Given the description of an element on the screen output the (x, y) to click on. 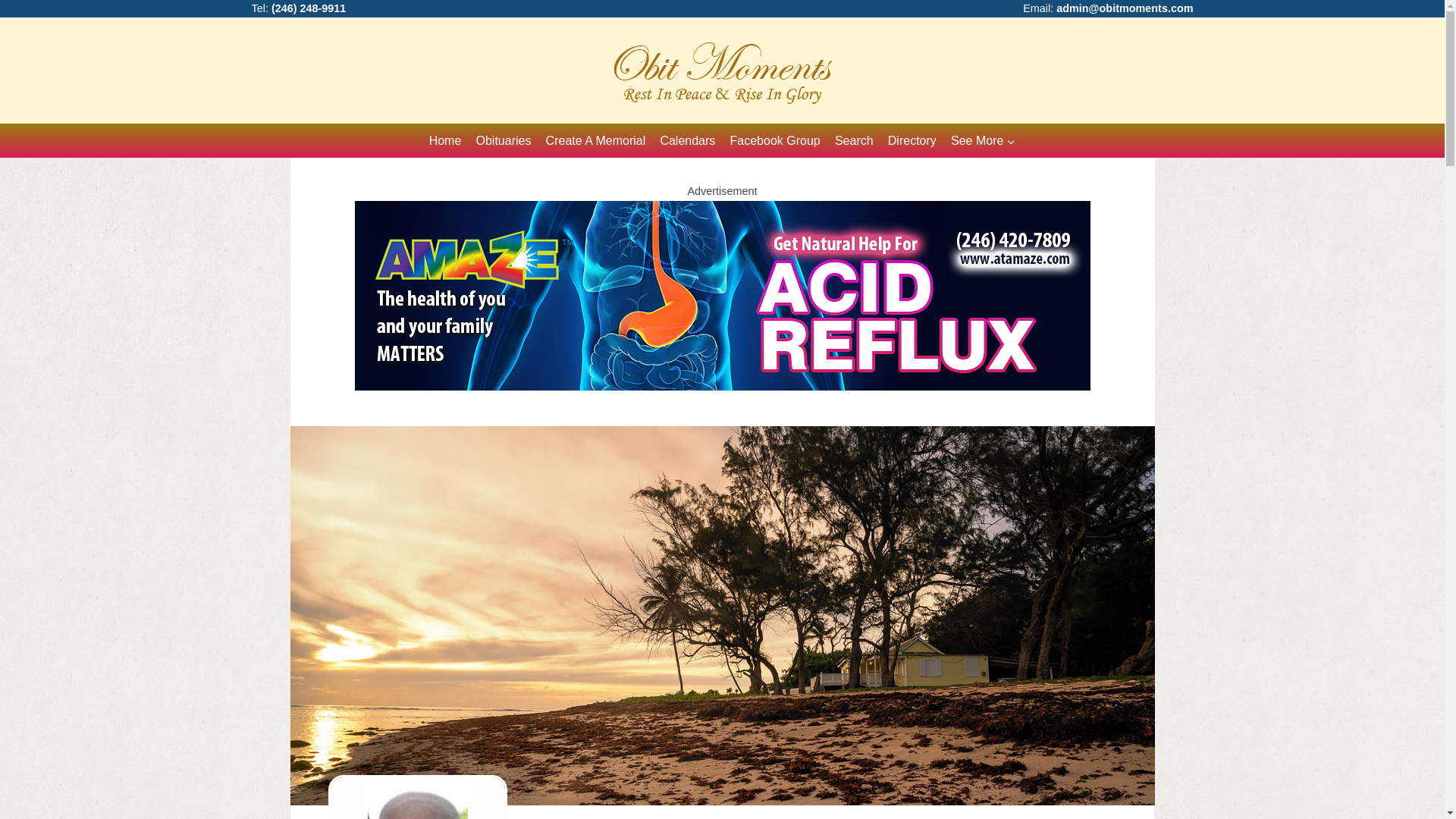
Obituaries (503, 140)
Search (853, 140)
See More (983, 140)
Directory (911, 140)
Calendars (687, 140)
Create A Memorial (595, 140)
Home (445, 140)
Facebook Group (774, 140)
